Given the description of an element on the screen output the (x, y) to click on. 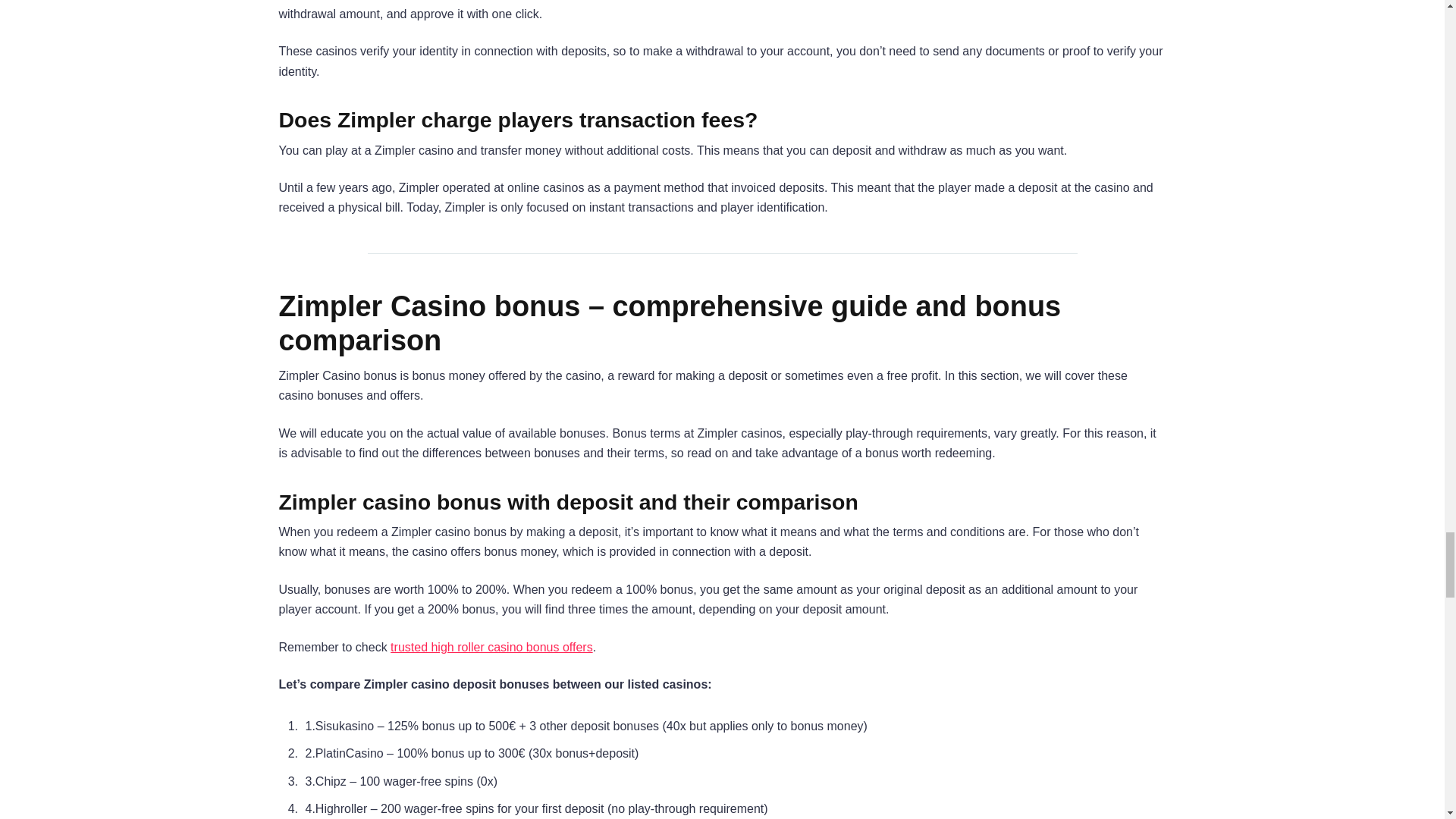
trusted high roller casino bonus offers (491, 646)
